Given the description of an element on the screen output the (x, y) to click on. 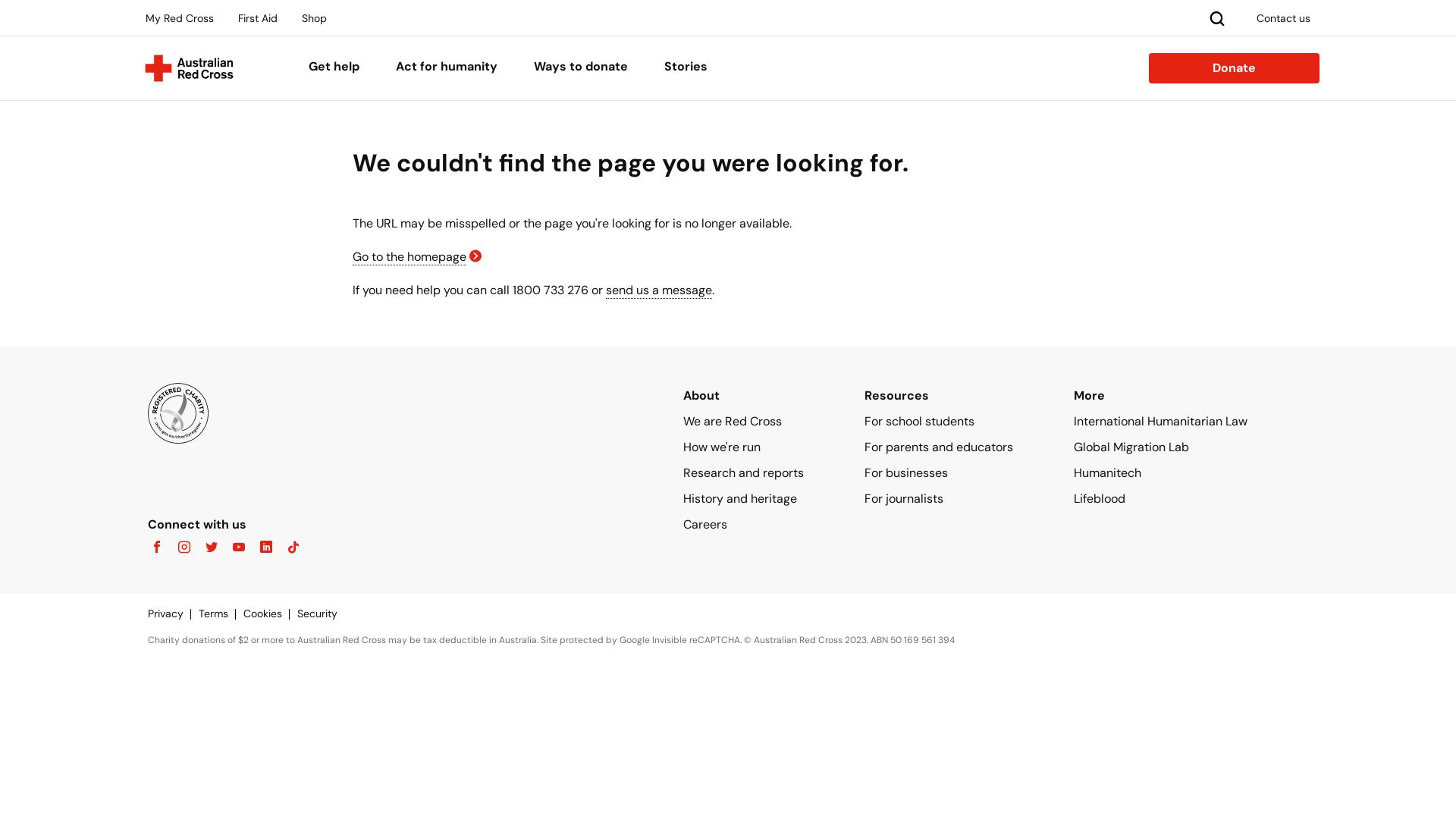
send us a message Element type: text (658, 290)
Global Migration Lab Element type: text (1131, 447)
Lifeblood Element type: text (1099, 498)
linkedin Element type: hover (261, 547)
Shop Element type: text (313, 17)
Privacy Element type: text (172, 613)
Search Element type: text (1216, 17)
facebook Element type: hover (156, 547)
Humanitech Element type: text (1107, 472)
We are Red Cross Element type: text (732, 421)
Go to the homepage Element type: text (409, 256)
For parents and educators Element type: text (938, 447)
International Humanitarian Law Element type: text (1160, 421)
twitter Element type: hover (206, 547)
instagram Element type: hover (179, 547)
Research and reports Element type: text (743, 472)
For businesses Element type: text (905, 472)
Stories Element type: text (685, 68)
For school students Element type: text (919, 421)
About Element type: text (701, 395)
First Aid Element type: text (257, 17)
My Red Cross Element type: text (179, 17)
tiktok Element type: hover (288, 547)
More Element type: text (1088, 395)
youtube Element type: hover (233, 547)
Donate Element type: text (1233, 68)
Act for humanity Element type: text (446, 68)
Cookies Element type: text (270, 613)
Get help Element type: text (333, 68)
History and heritage Element type: text (740, 498)
Contact us Element type: text (1283, 17)
Careers Element type: text (705, 524)
Terms Element type: text (220, 613)
Security Element type: text (324, 613)
Resources Element type: text (896, 395)
How we're run Element type: text (721, 447)
For journalists Element type: text (903, 498)
Ways to donate Element type: text (580, 68)
